Given the description of an element on the screen output the (x, y) to click on. 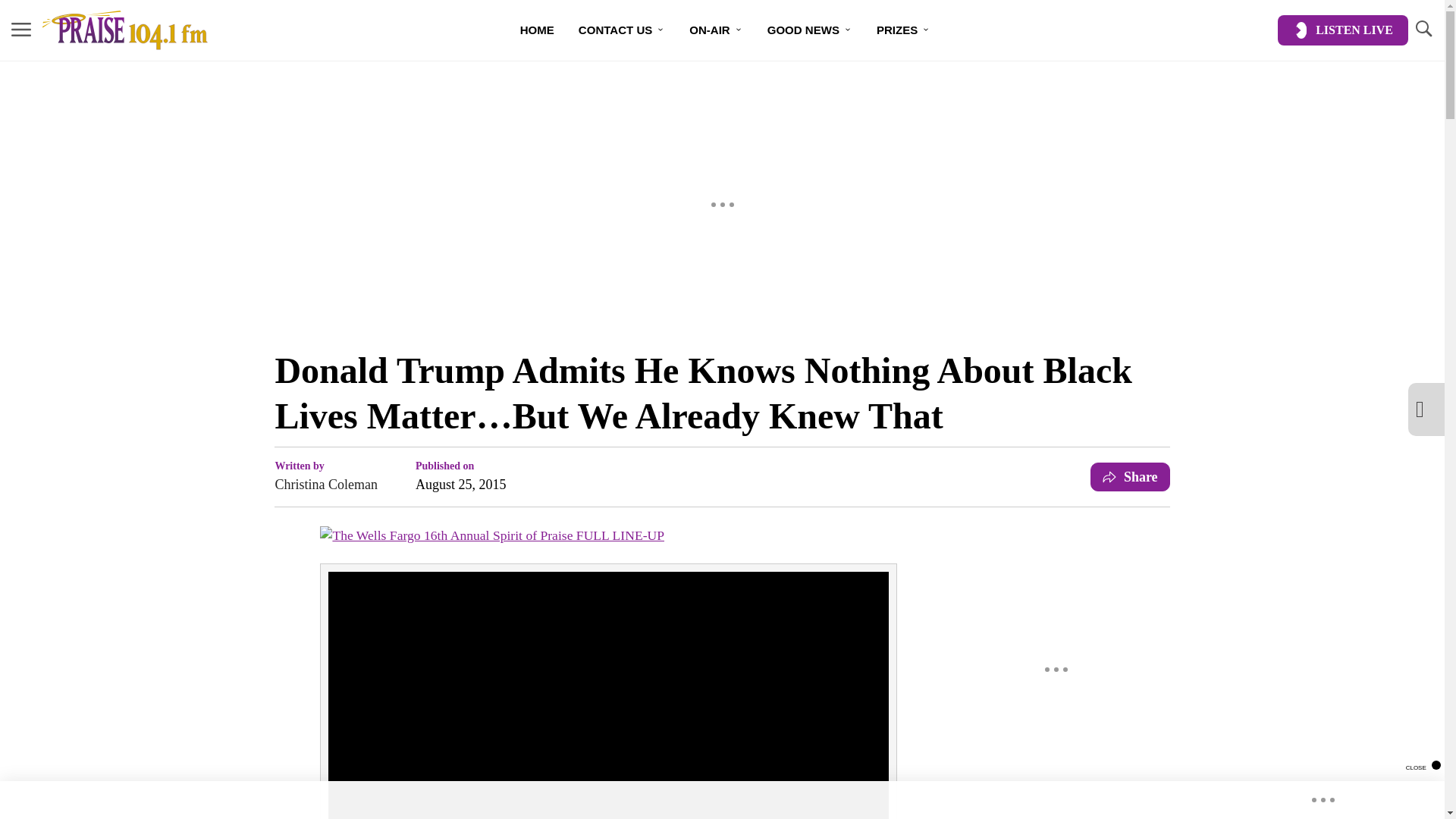
Christina Coleman (326, 484)
TOGGLE SEARCH (1422, 30)
LISTEN LIVE (1342, 30)
HOME (537, 30)
CONTACT US (621, 30)
ON-AIR (715, 30)
MENU (20, 29)
GOOD NEWS (809, 30)
MENU (20, 30)
TOGGLE SEARCH (1422, 28)
